Given the description of an element on the screen output the (x, y) to click on. 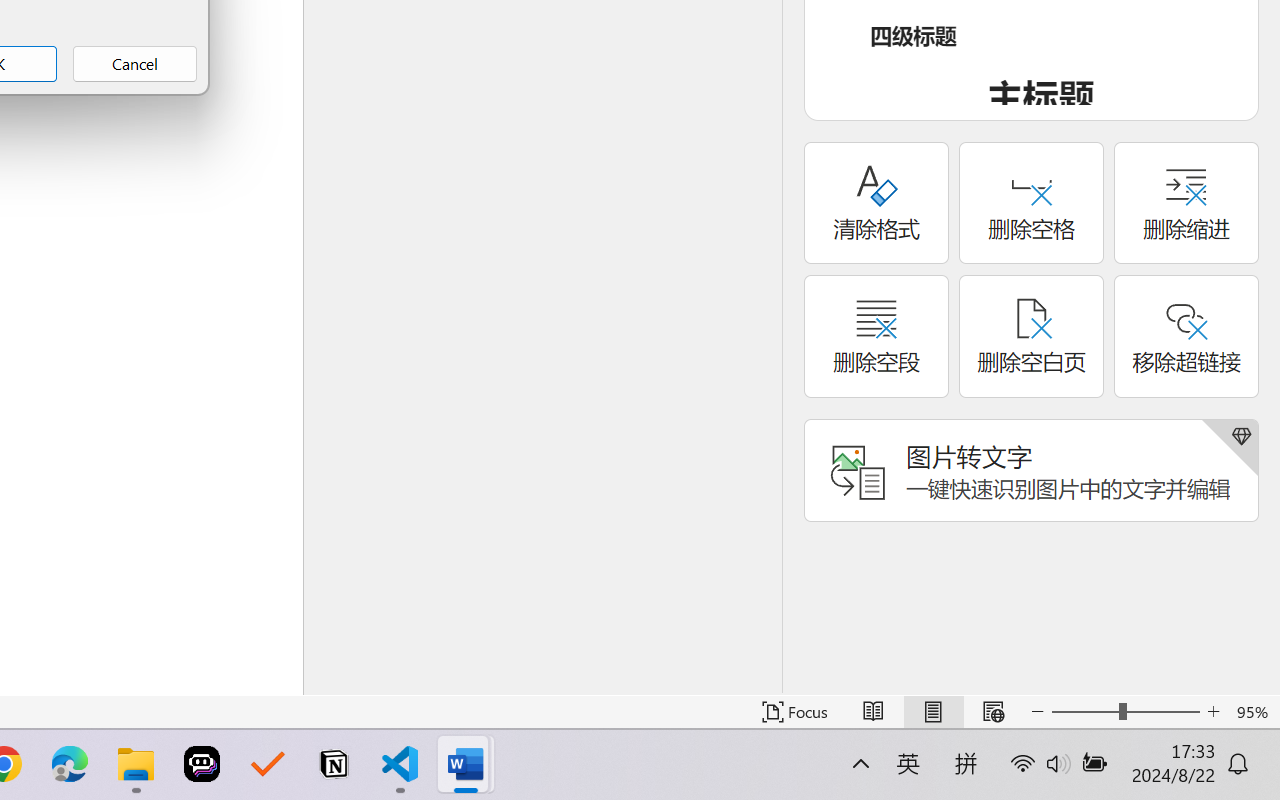
Zoom 95% (1253, 712)
Cancel (134, 63)
